Given the description of an element on the screen output the (x, y) to click on. 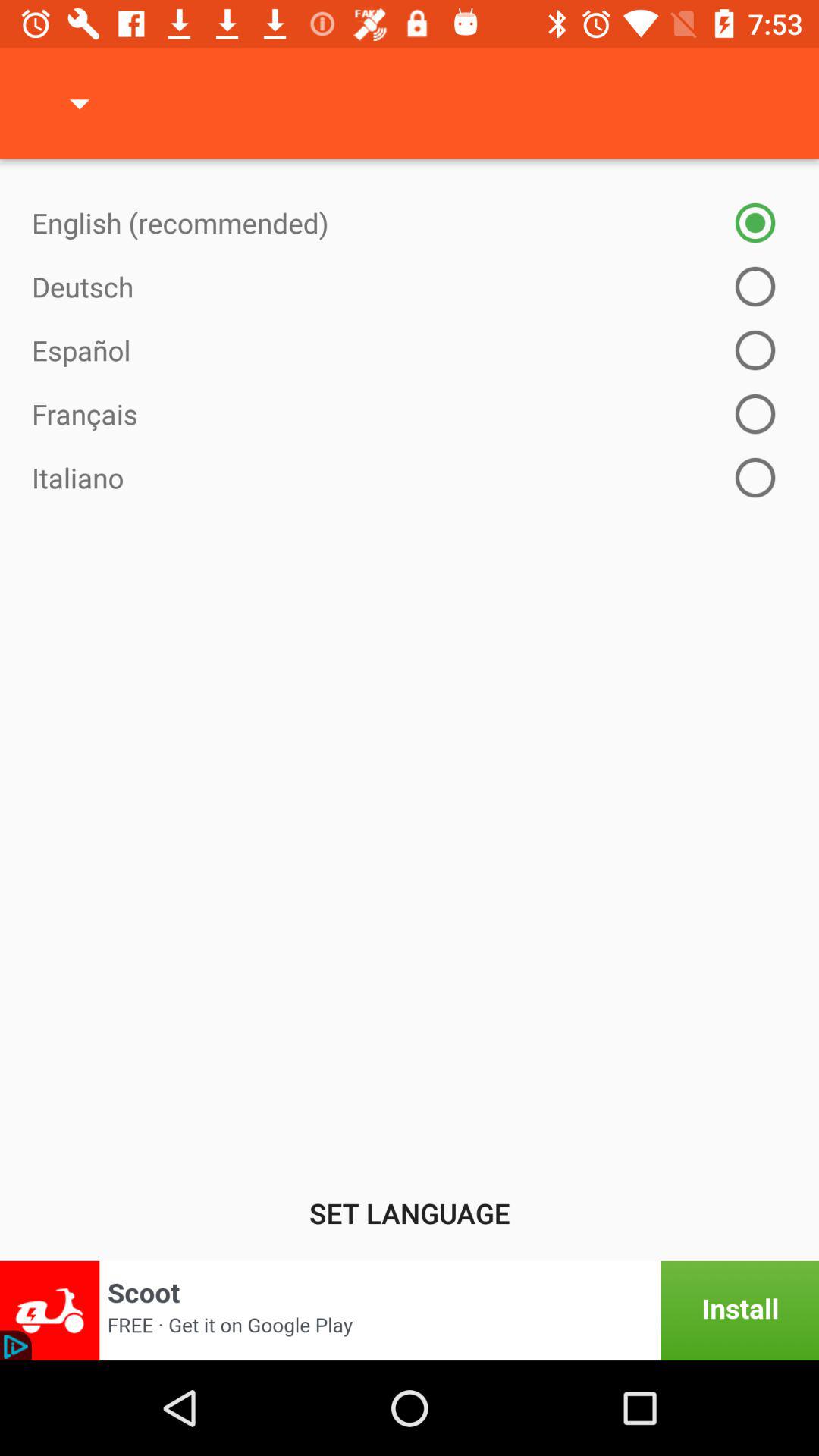
open the icon above english (recommended) item (79, 103)
